Given the description of an element on the screen output the (x, y) to click on. 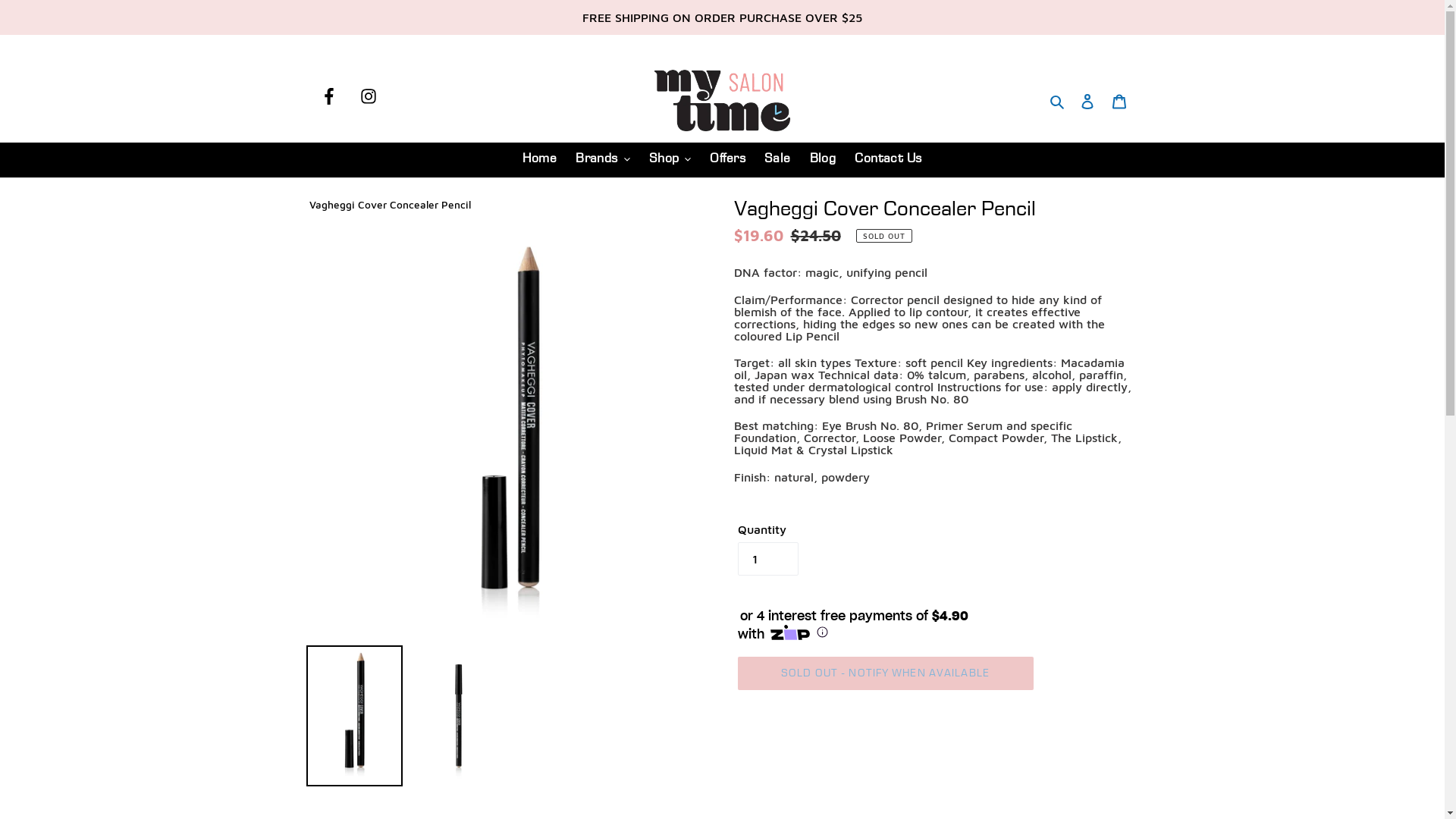
Search Element type: text (1057, 99)
Shop Element type: text (670, 159)
Instagram Element type: text (367, 94)
Search Element type: text (1057, 99)
SOLD OUT - NOTIFY WHEN AVAILABLE Element type: text (884, 673)
Account Element type: text (1087, 99)
Blog Element type: text (823, 158)
Sale Element type: text (777, 158)
SOLD OUT - NOTIFY WHEN AVAILABLE Element type: text (885, 672)
Home Element type: text (539, 158)
Facebook Element type: text (328, 94)
Brands Element type: text (602, 159)
Cart Element type: text (1119, 99)
Vagheggi Cover Concealer Pencil Element type: text (389, 204)
Contact Us Element type: text (887, 158)
Offers Element type: text (727, 158)
